Given the description of an element on the screen output the (x, y) to click on. 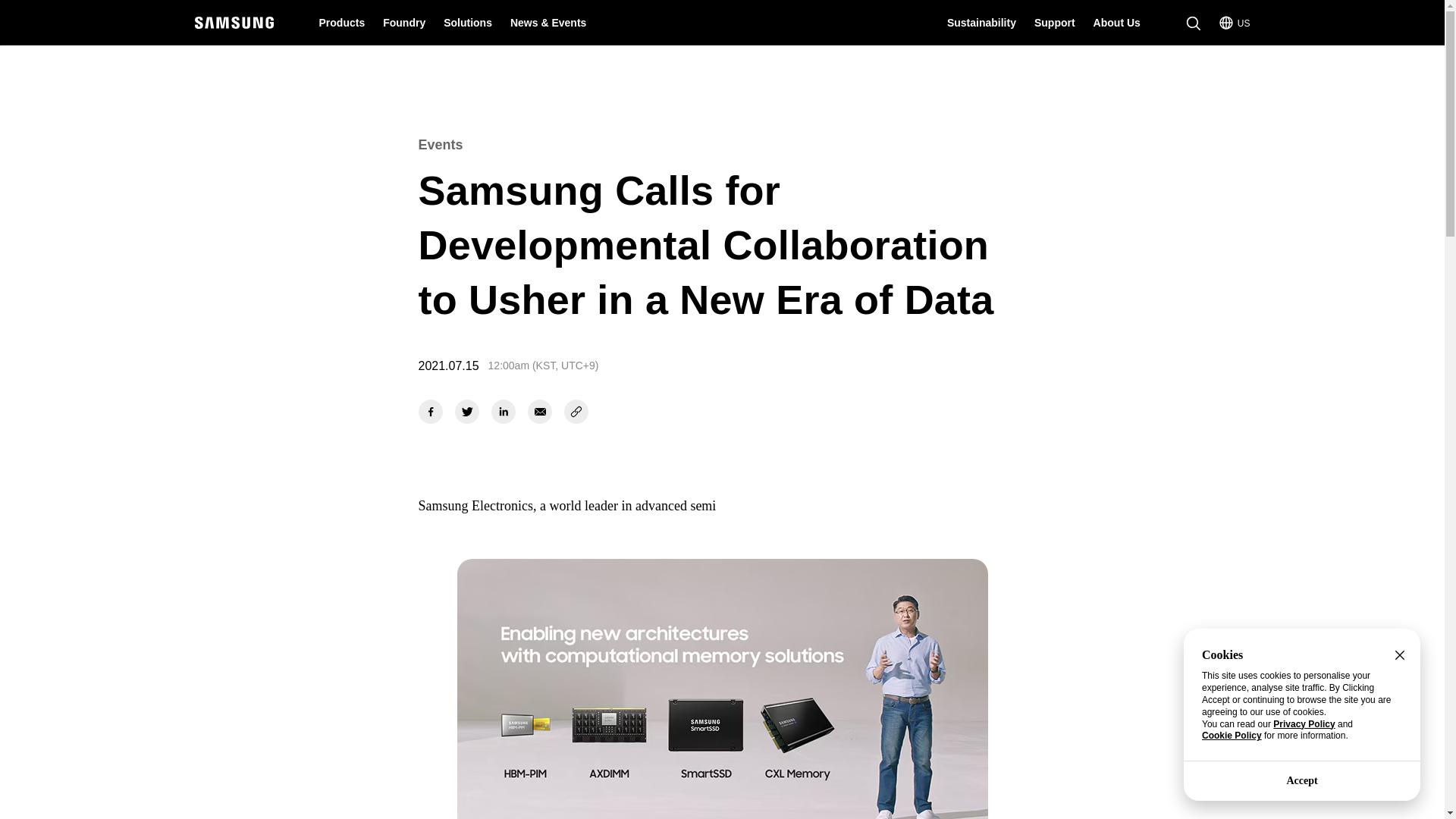
open new window (430, 411)
open new window (466, 411)
open new window (503, 411)
share to email (539, 411)
Products (341, 22)
